Given the description of an element on the screen output the (x, y) to click on. 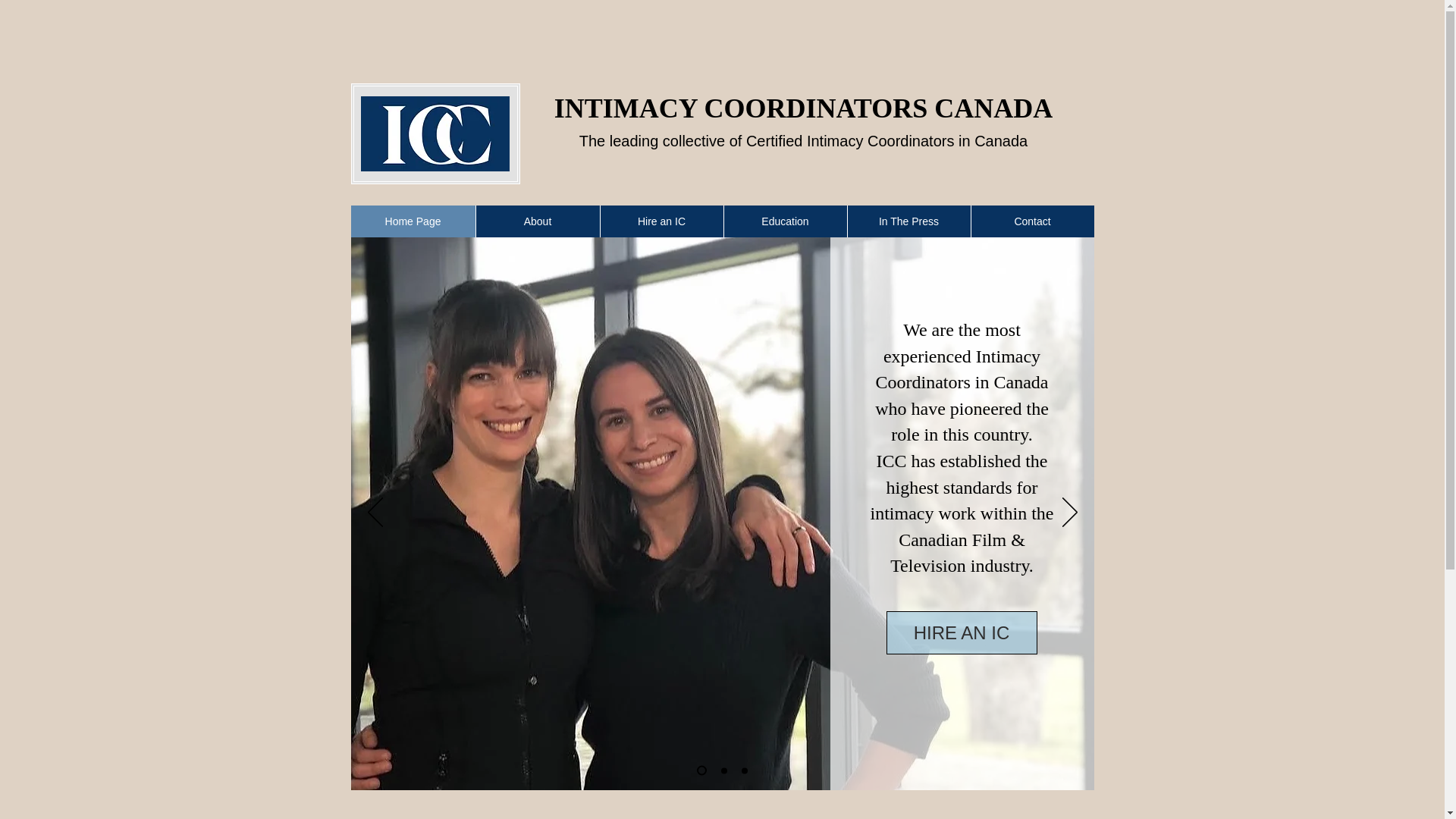
SEND (434, 133)
Contact (1032, 221)
In The Press (907, 221)
Hire an IC (660, 221)
Home Page (412, 221)
Education (785, 221)
INTIMACY COORDINATORS CANADA (803, 108)
About (536, 221)
HIRE AN IC (960, 632)
